Given the description of an element on the screen output the (x, y) to click on. 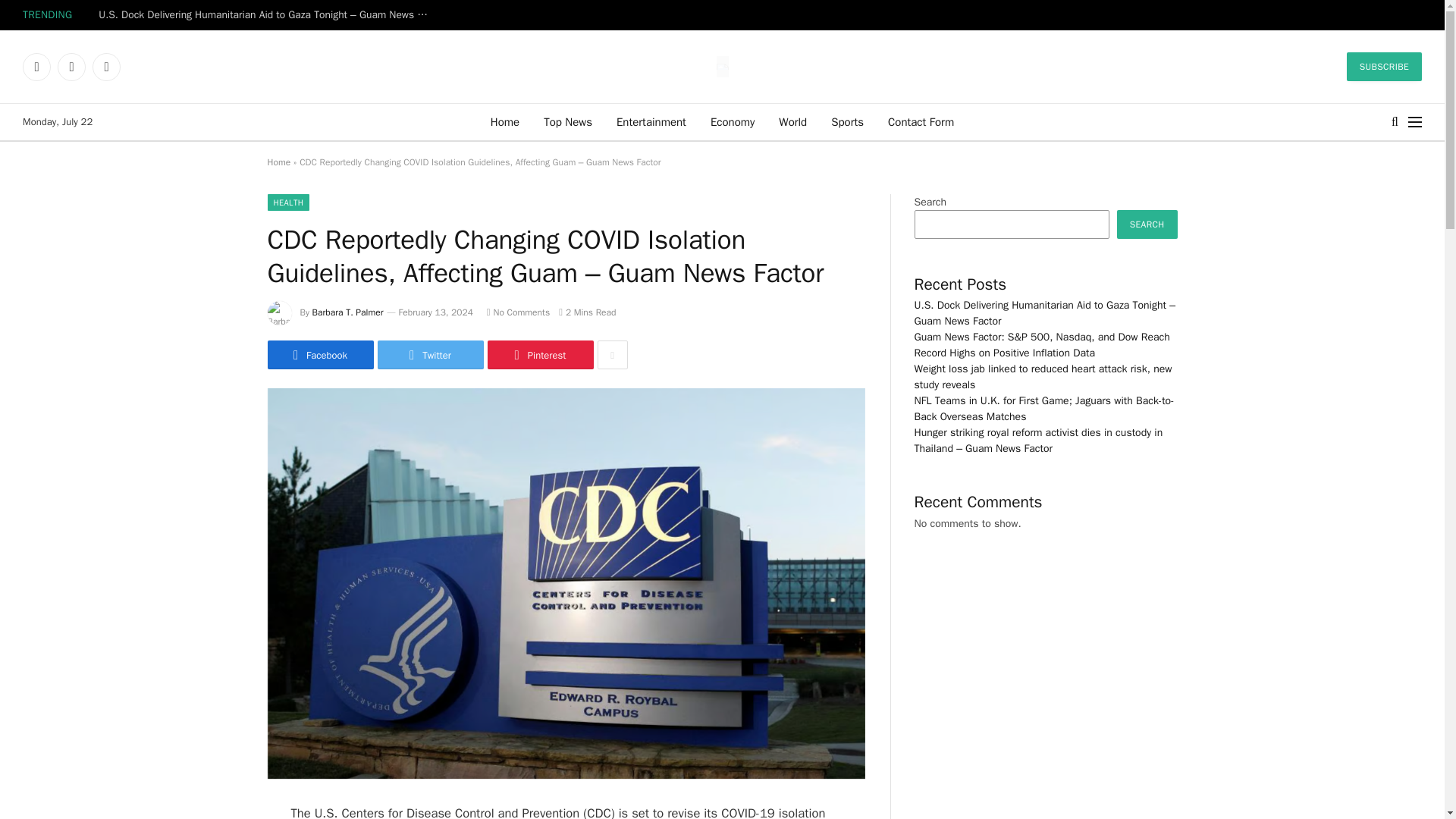
Entertainment (651, 122)
Contact Form (921, 122)
Sports (847, 122)
Share on Facebook (319, 354)
Facebook (36, 67)
No Comments (518, 312)
Home (505, 122)
SUBSCRIBE (1384, 66)
Instagram (106, 67)
Posts by Barbara T. Palmer (348, 312)
Top News (567, 122)
Economy (732, 122)
World (792, 122)
HEALTH (287, 202)
Share on Pinterest (539, 354)
